Given the description of an element on the screen output the (x, y) to click on. 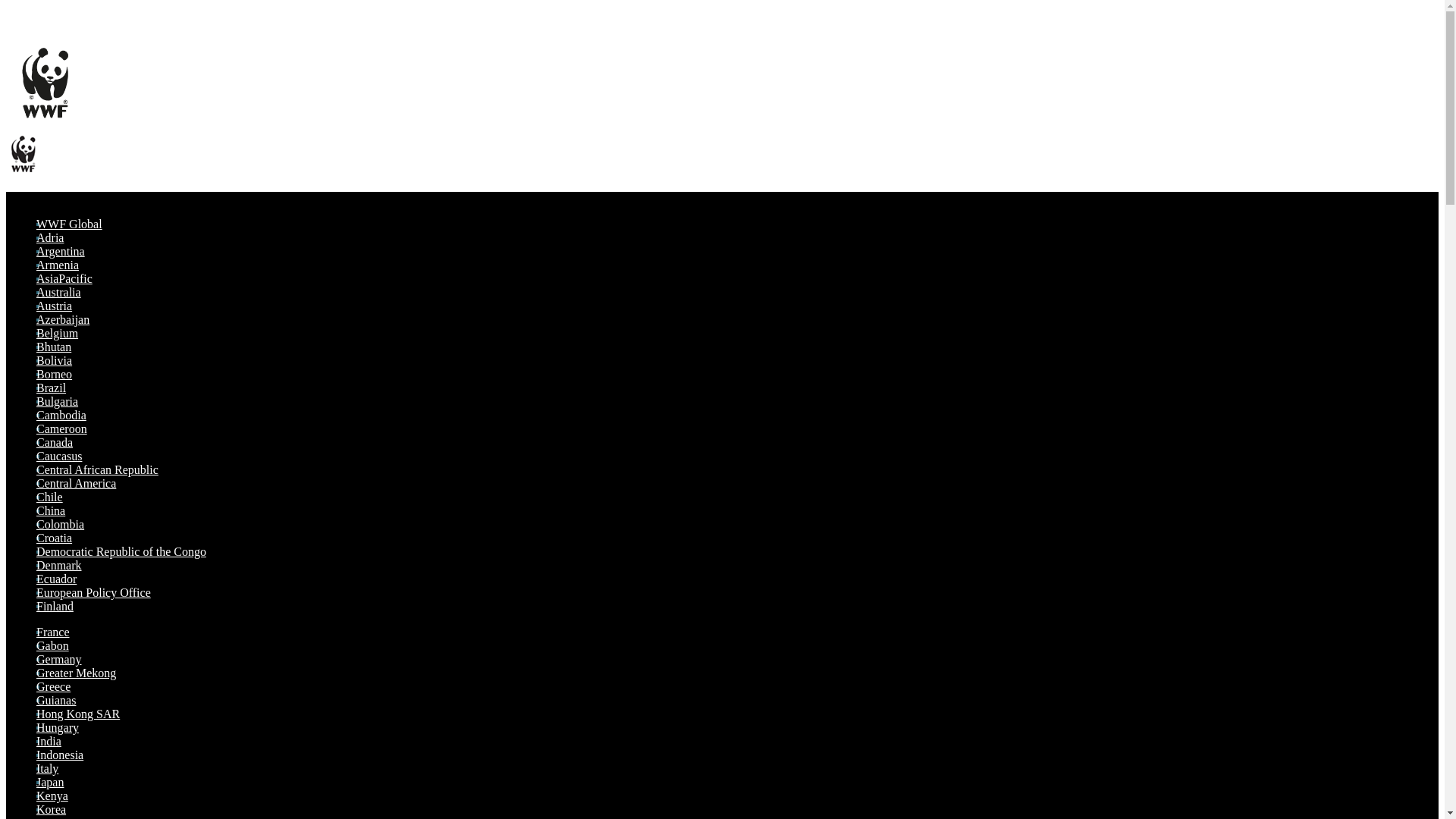
Cameroon (61, 428)
Caucasus (58, 455)
Ecuador (56, 578)
China (50, 510)
Colombia (60, 523)
Central America (76, 482)
Cambodia (60, 414)
Gabon (52, 645)
Argentina (60, 250)
Croatia (53, 537)
Central African Republic (97, 469)
Guianas (55, 699)
Bhutan (53, 346)
Democratic Republic of the Congo (121, 551)
Finland (55, 605)
